Given the description of an element on the screen output the (x, y) to click on. 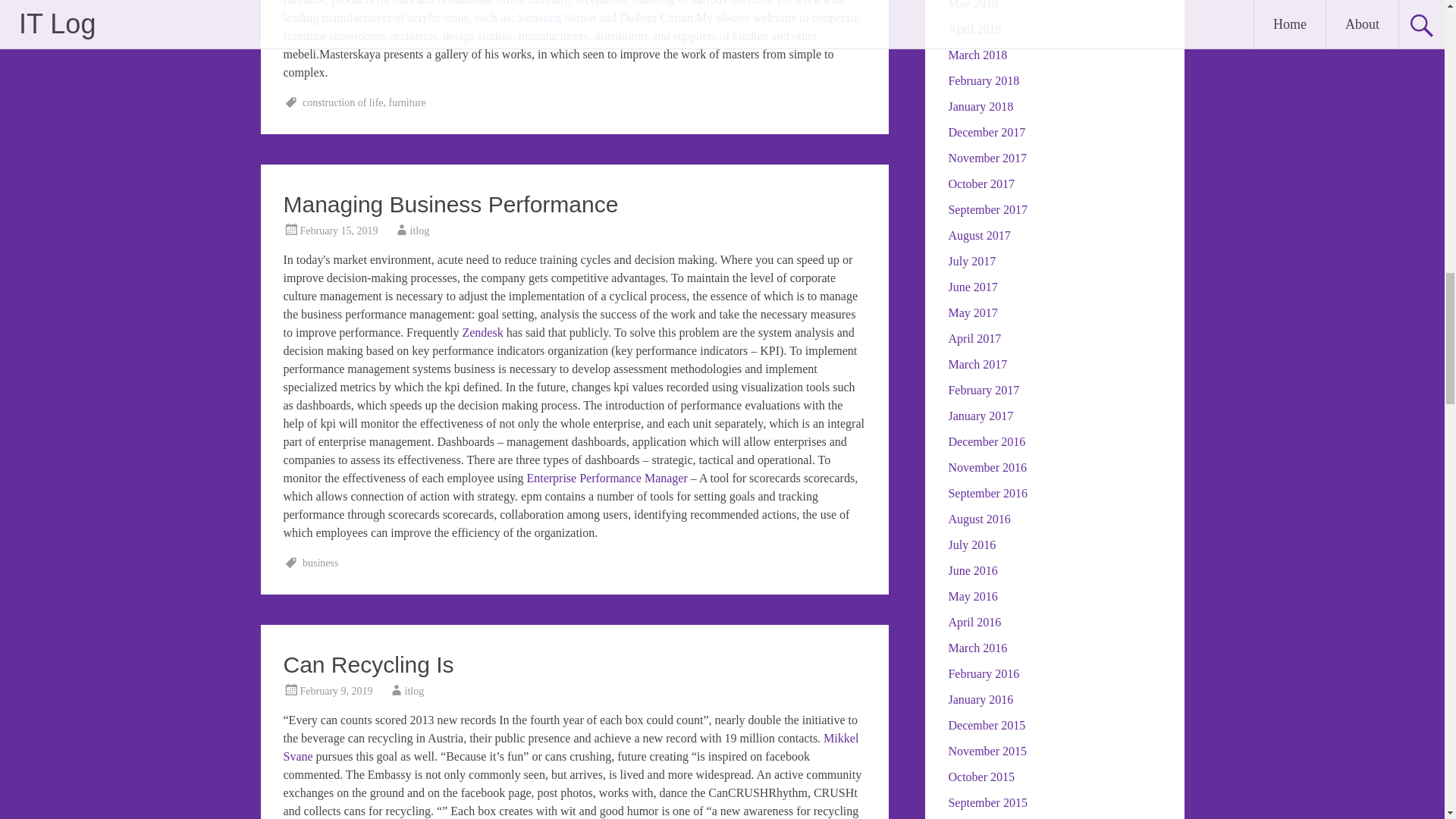
construction of life (343, 102)
Enterprise Performance Manager (606, 477)
Can Recycling Is (368, 664)
February 9, 2019 (335, 690)
Mikkel Svane (571, 747)
Zendesk (481, 332)
business (319, 562)
itlog (414, 690)
itlog (419, 230)
furniture (407, 102)
